Given the description of an element on the screen output the (x, y) to click on. 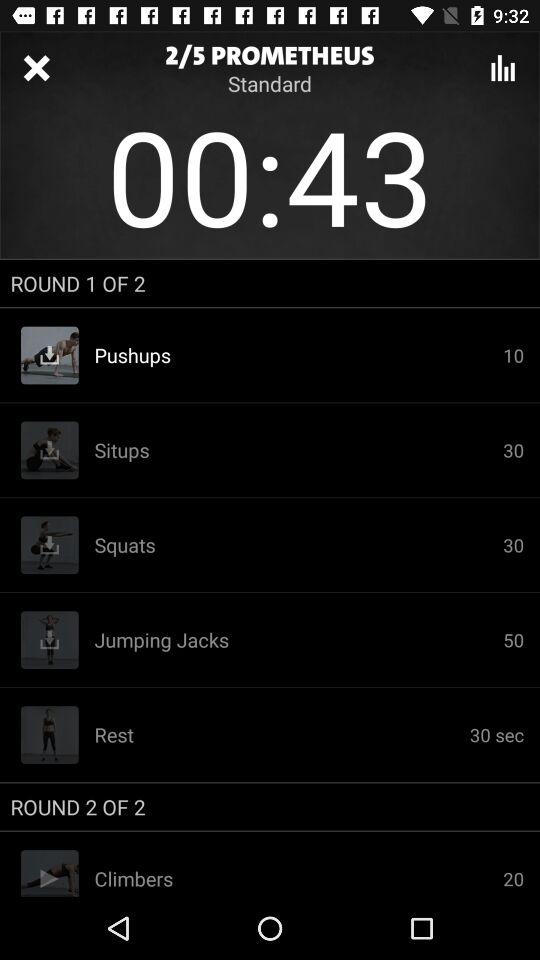
turn off item to the left of 30 (298, 355)
